Given the description of an element on the screen output the (x, y) to click on. 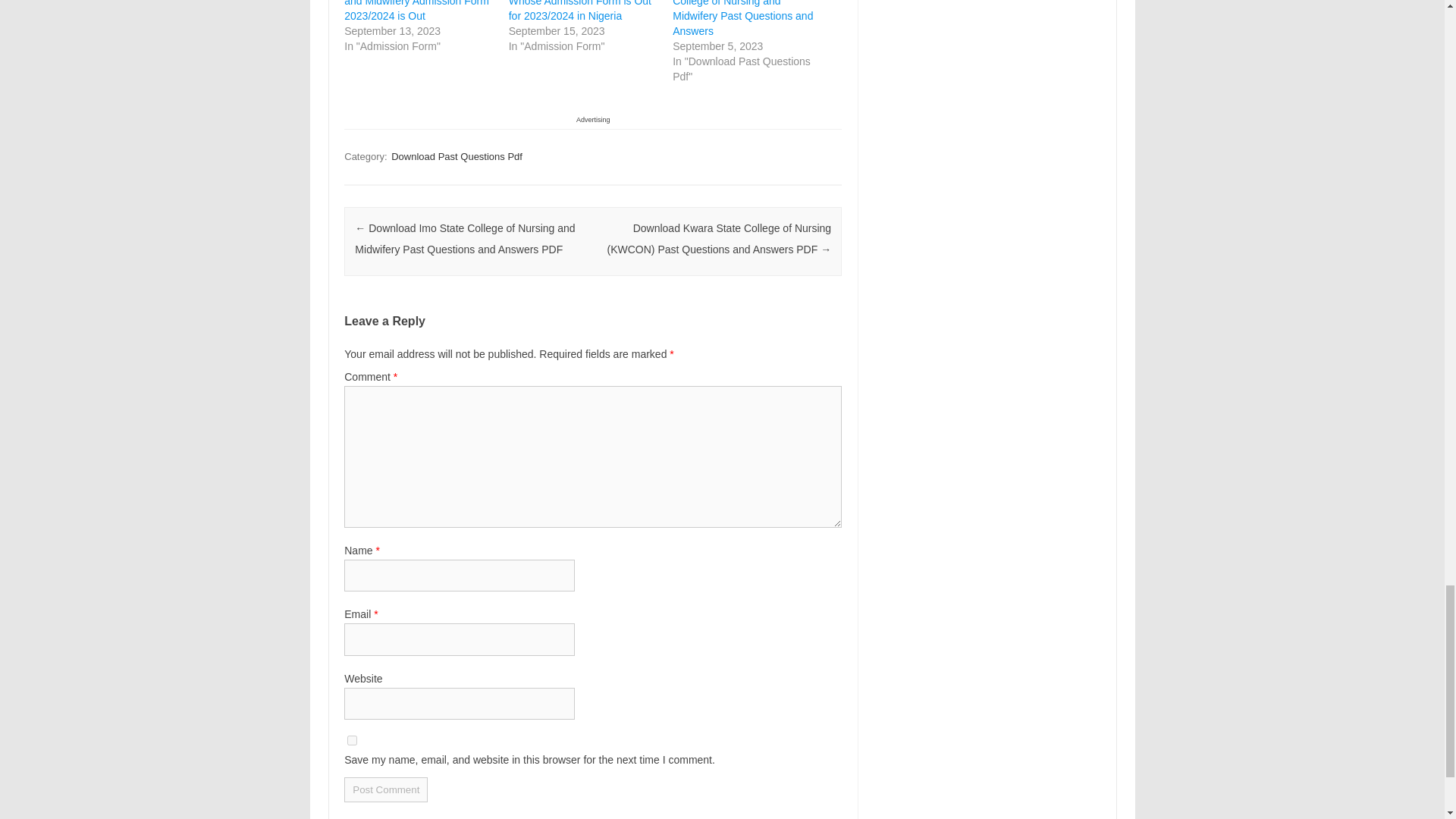
yes (351, 740)
Download Past Questions Pdf (457, 156)
Post Comment (385, 789)
Post Comment (385, 789)
